Given the description of an element on the screen output the (x, y) to click on. 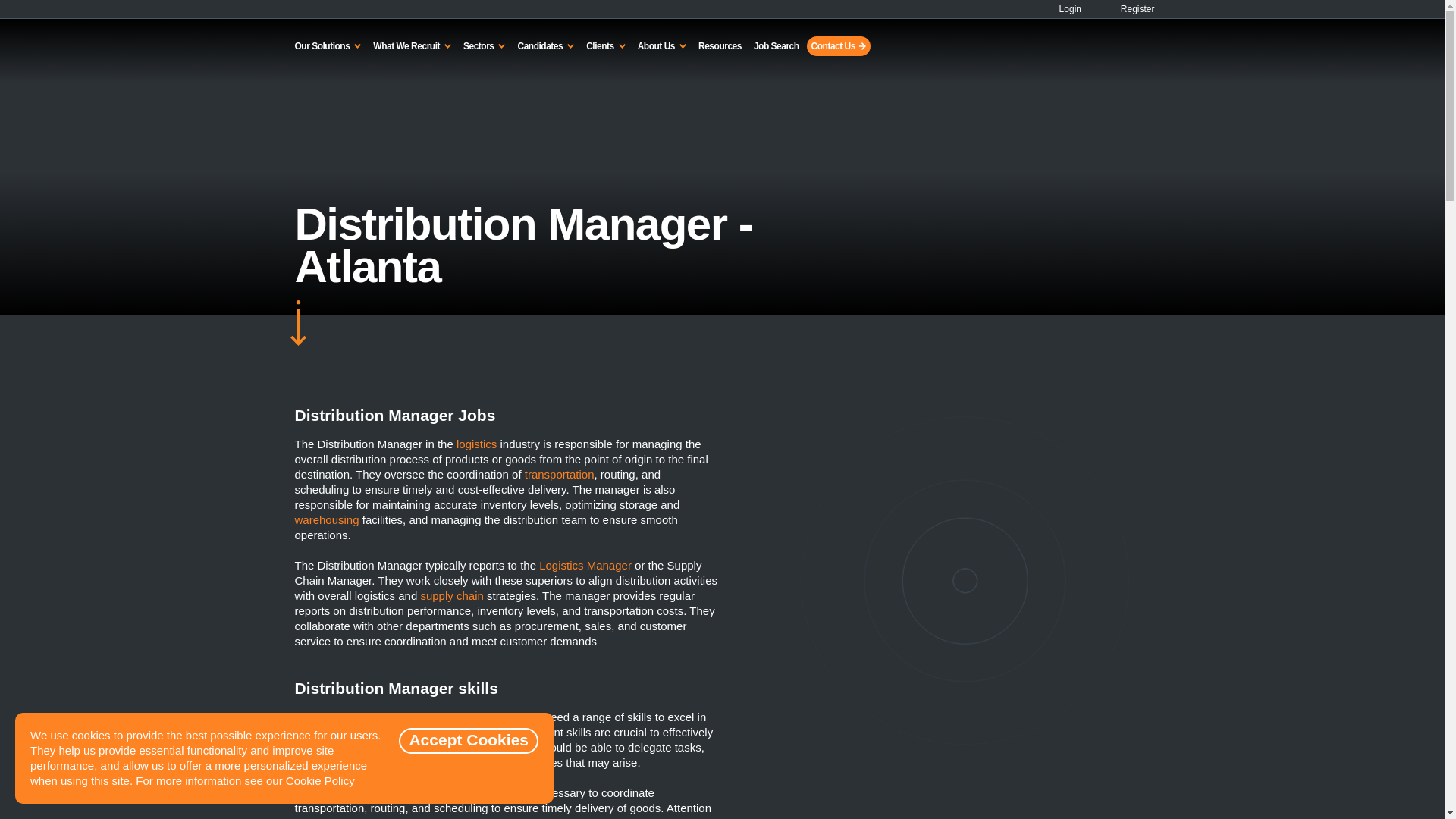
Register (1128, 9)
Login (1063, 9)
What We Recruit (411, 46)
Sectors (484, 46)
Candidates (545, 46)
Our Solutions (327, 46)
